Given the description of an element on the screen output the (x, y) to click on. 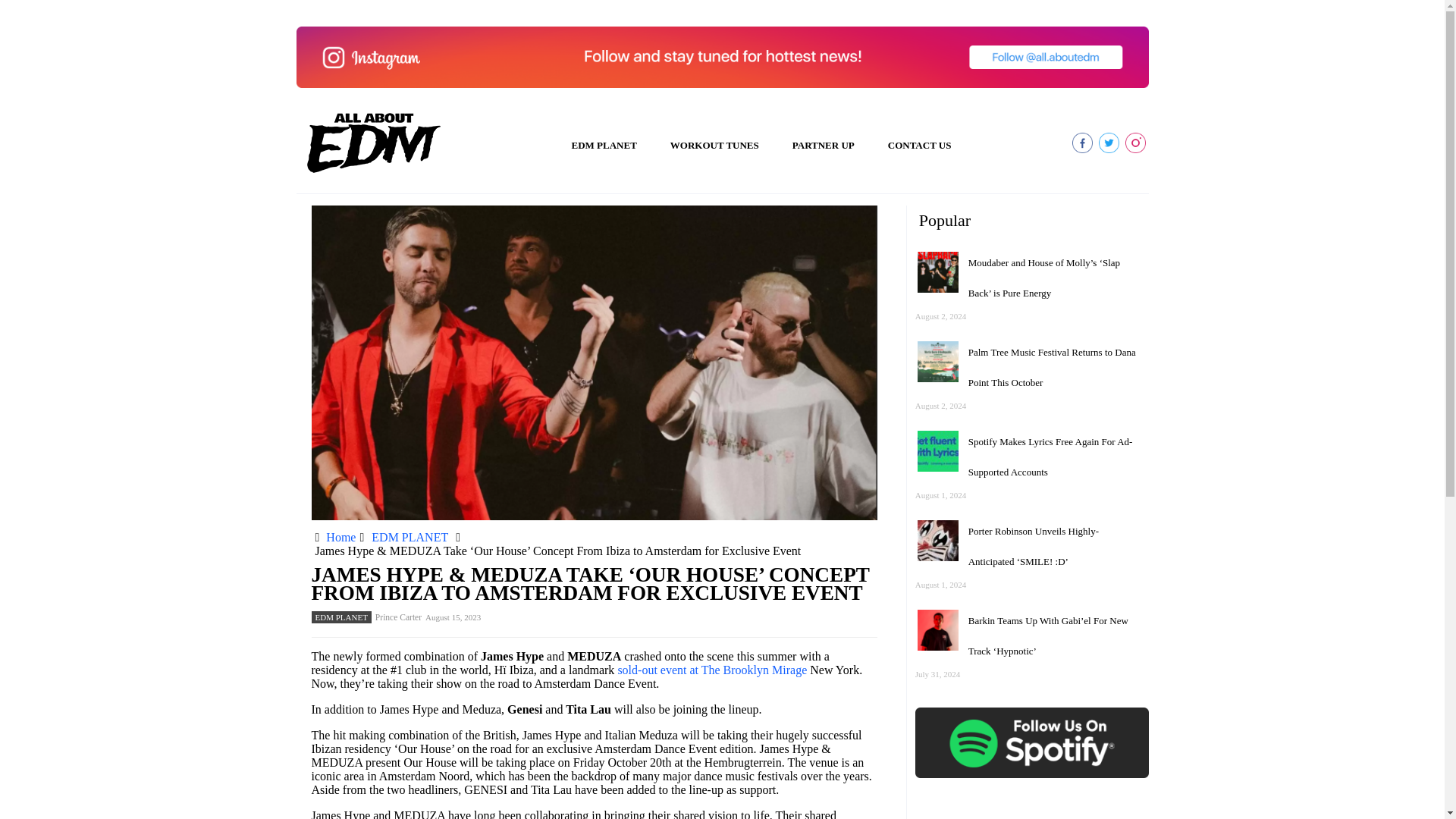
EDM PLANET (409, 536)
PARTNER UP (823, 145)
CONTACT US (919, 145)
EDM PLANET (341, 616)
Home (340, 536)
Spotify Makes Lyrics Free Again For Ad-Supported Accounts (1050, 456)
EDM PLANET (604, 145)
Prince Carter (398, 616)
Palm Tree Music Festival Returns to Dana Point This October (1051, 367)
WORKOUT TUNES (714, 145)
sold-out event at The Brooklyn Mirage (711, 669)
